Given the description of an element on the screen output the (x, y) to click on. 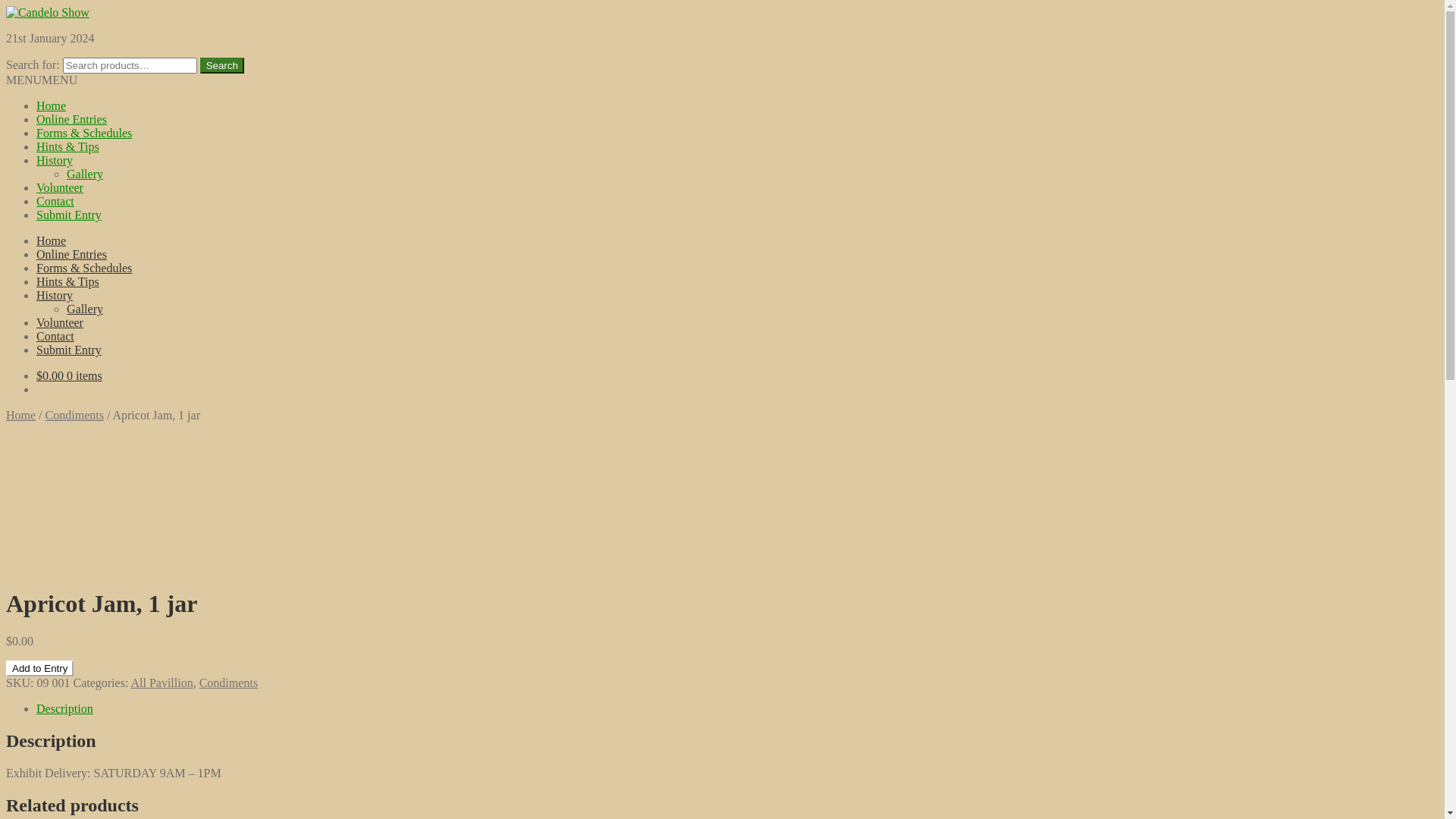
Forms & Schedules Element type: text (83, 267)
Forms & Schedules Element type: text (83, 132)
Gallery Element type: text (84, 308)
Search Element type: text (222, 65)
History Element type: text (54, 294)
History Element type: text (54, 159)
Volunteer Element type: text (59, 322)
Submit Entry Element type: text (68, 214)
Online Entries Element type: text (71, 253)
Home Element type: text (50, 240)
Submit Entry Element type: text (68, 349)
Hints & Tips Element type: text (67, 146)
Contact Element type: text (55, 200)
$0.00 0 items Element type: text (69, 375)
Hints & Tips Element type: text (67, 281)
All Pavillion Element type: text (161, 682)
Volunteer Element type: text (59, 187)
Online Entries Element type: text (71, 118)
Add to Entry Element type: text (39, 668)
Contact Element type: text (55, 335)
Description Element type: text (64, 708)
Home Element type: text (50, 105)
Condiments Element type: text (74, 414)
Condiments Element type: text (228, 682)
Home Element type: text (20, 414)
Gallery Element type: text (84, 173)
